Given the description of an element on the screen output the (x, y) to click on. 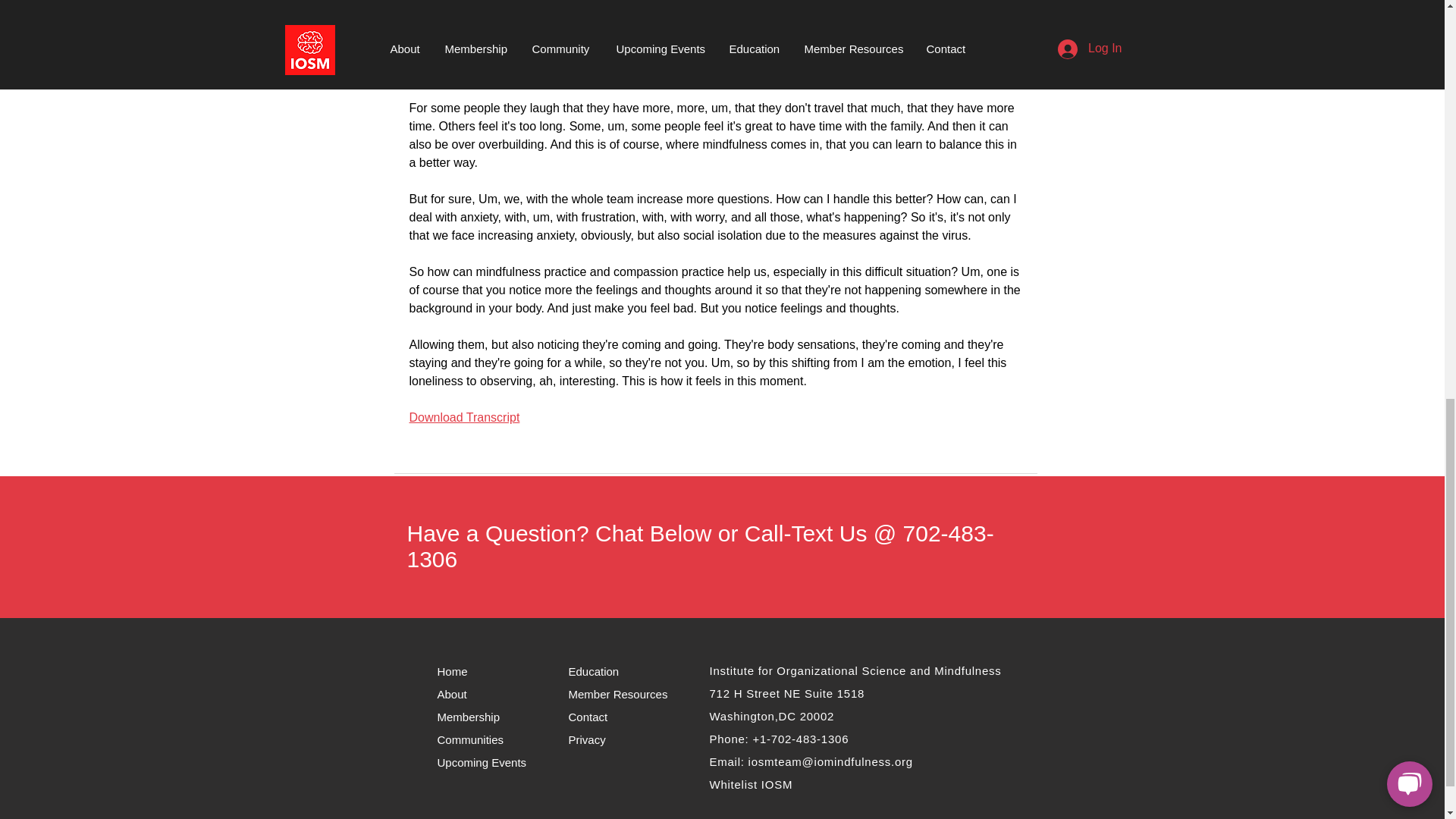
Upcoming Events (490, 762)
Contact (599, 716)
Membership (473, 716)
Member Resources (620, 693)
Download Transcript (464, 417)
Privacy (593, 739)
Communities (481, 739)
Education (597, 671)
About (460, 693)
Home (458, 671)
